Given the description of an element on the screen output the (x, y) to click on. 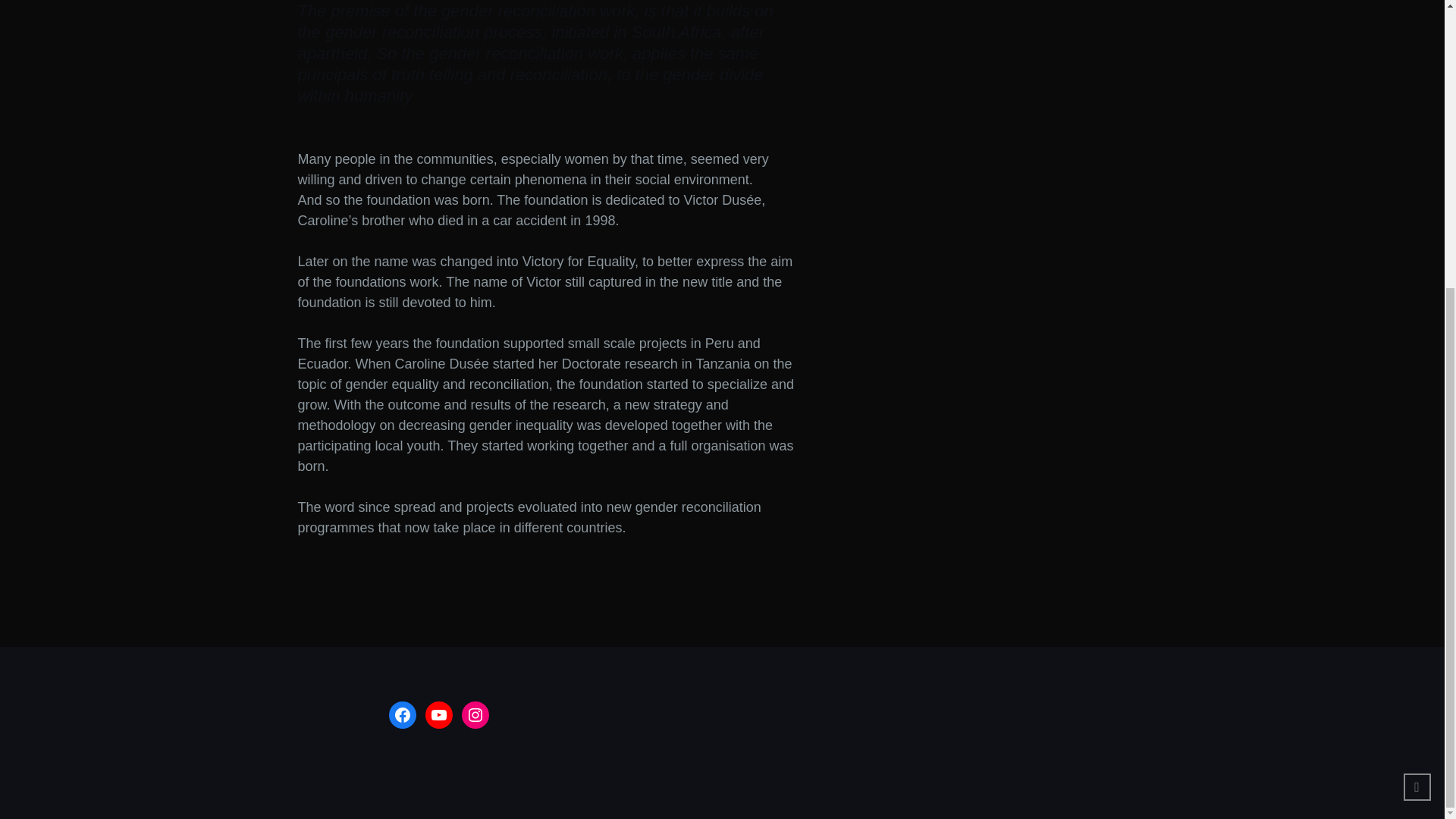
YouTube (438, 714)
Instagram (475, 714)
Facebook (402, 714)
